Given the description of an element on the screen output the (x, y) to click on. 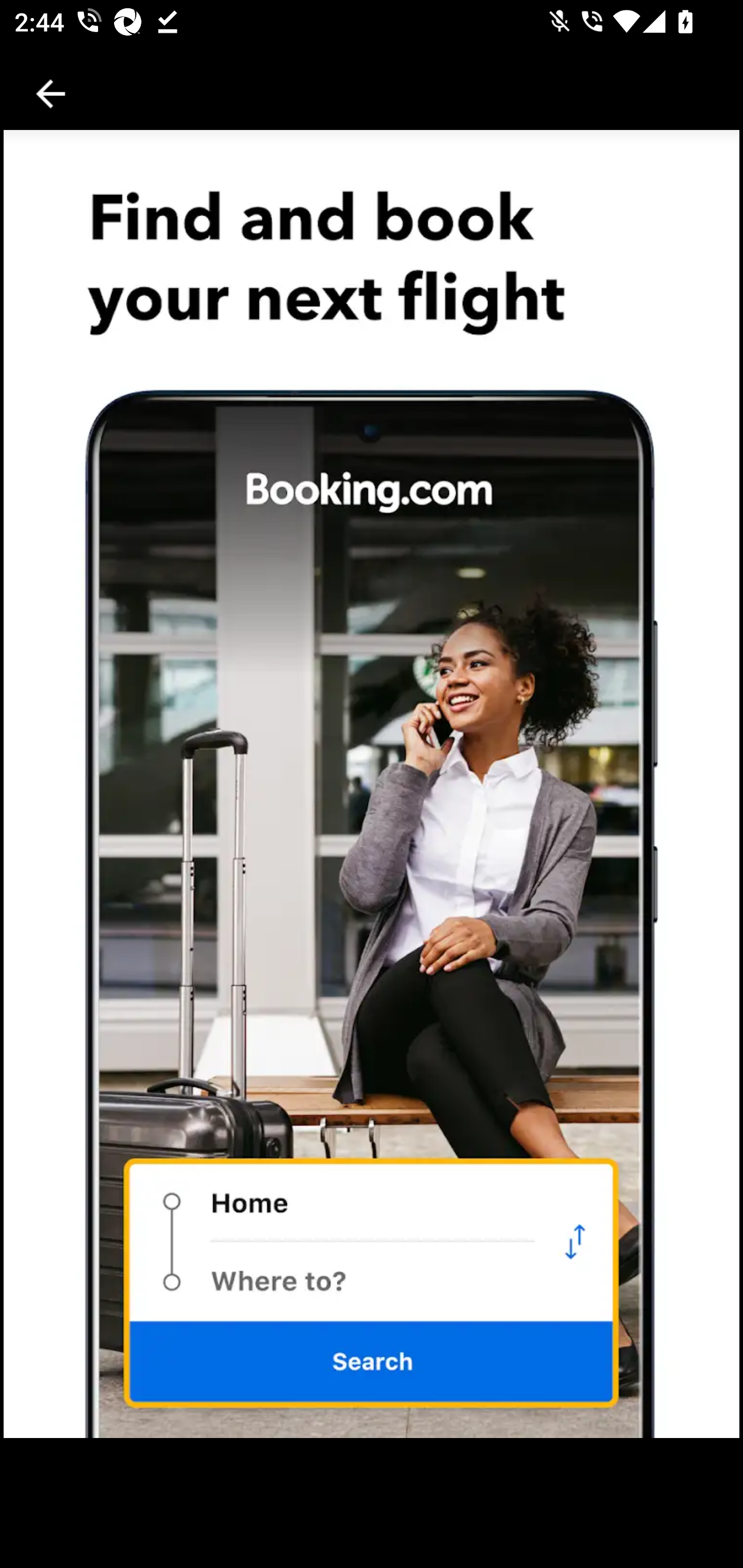
Back (50, 93)
